Given the description of an element on the screen output the (x, y) to click on. 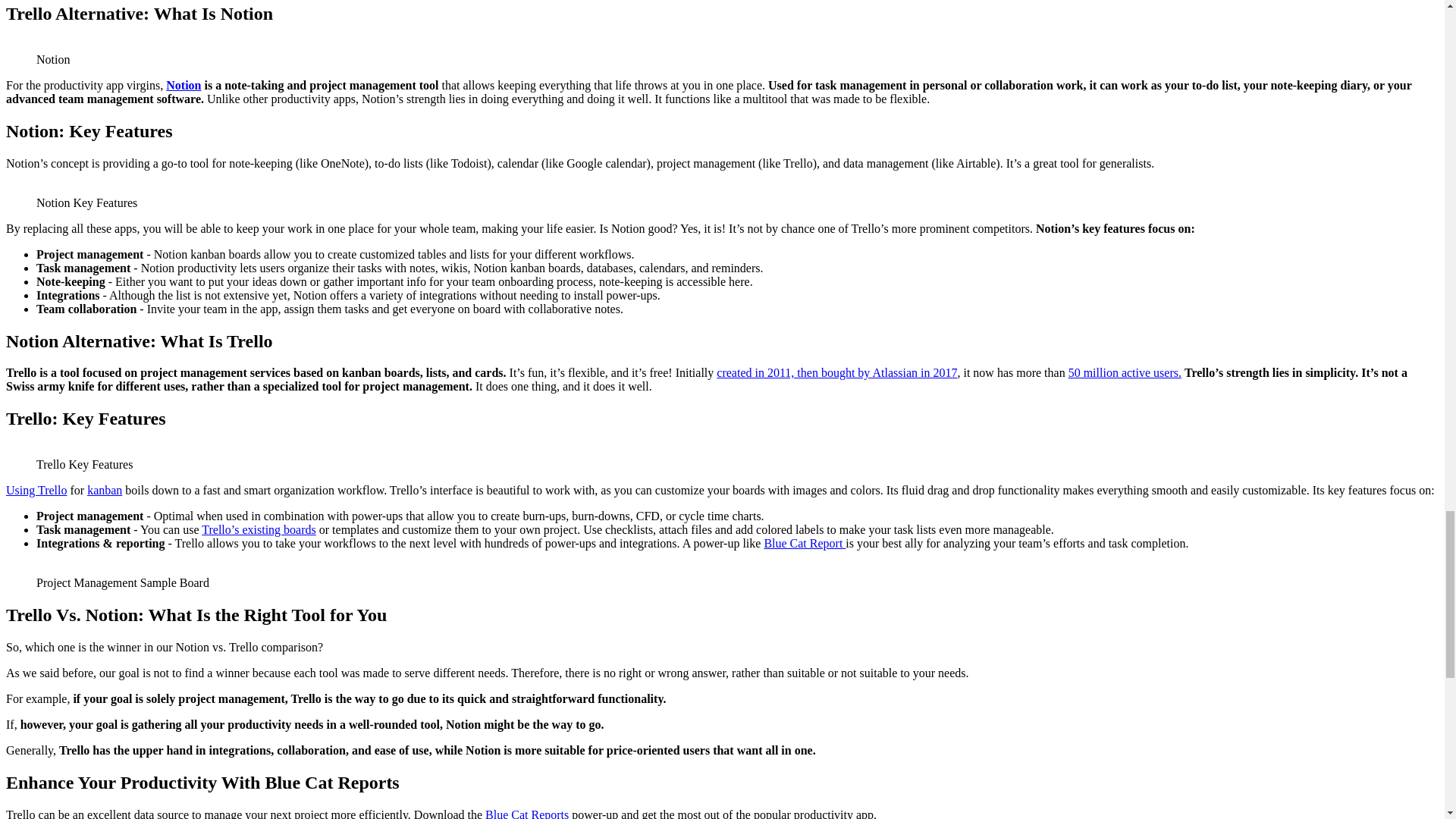
Using Trello (35, 490)
created in 2011, then bought by Atlassian in 2017 (836, 372)
50 million active users. (1124, 372)
Notion (182, 84)
Blue Cat Reports (526, 813)
Blue Cat Report (803, 543)
kanban (104, 490)
